Given the description of an element on the screen output the (x, y) to click on. 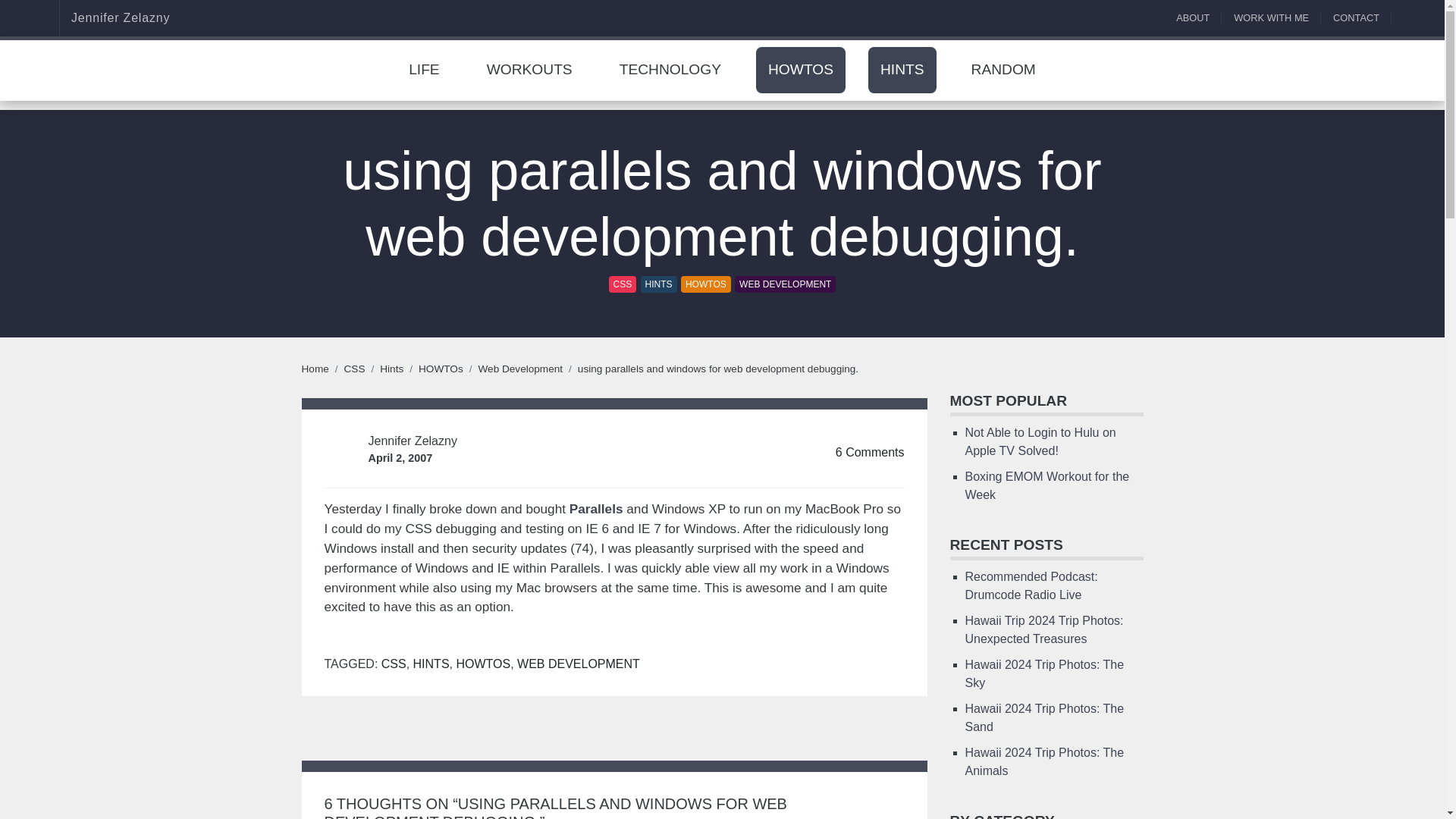
TECHNOLOGY (670, 69)
CSS (354, 368)
ABOUT (1198, 21)
Home (315, 368)
HINTS (901, 69)
HOWTOS (705, 284)
WEB DEVELOPMENT (785, 284)
HOWTOs (800, 69)
Jennifer Zelazny (96, 18)
HOWTOS (800, 69)
